Given the description of an element on the screen output the (x, y) to click on. 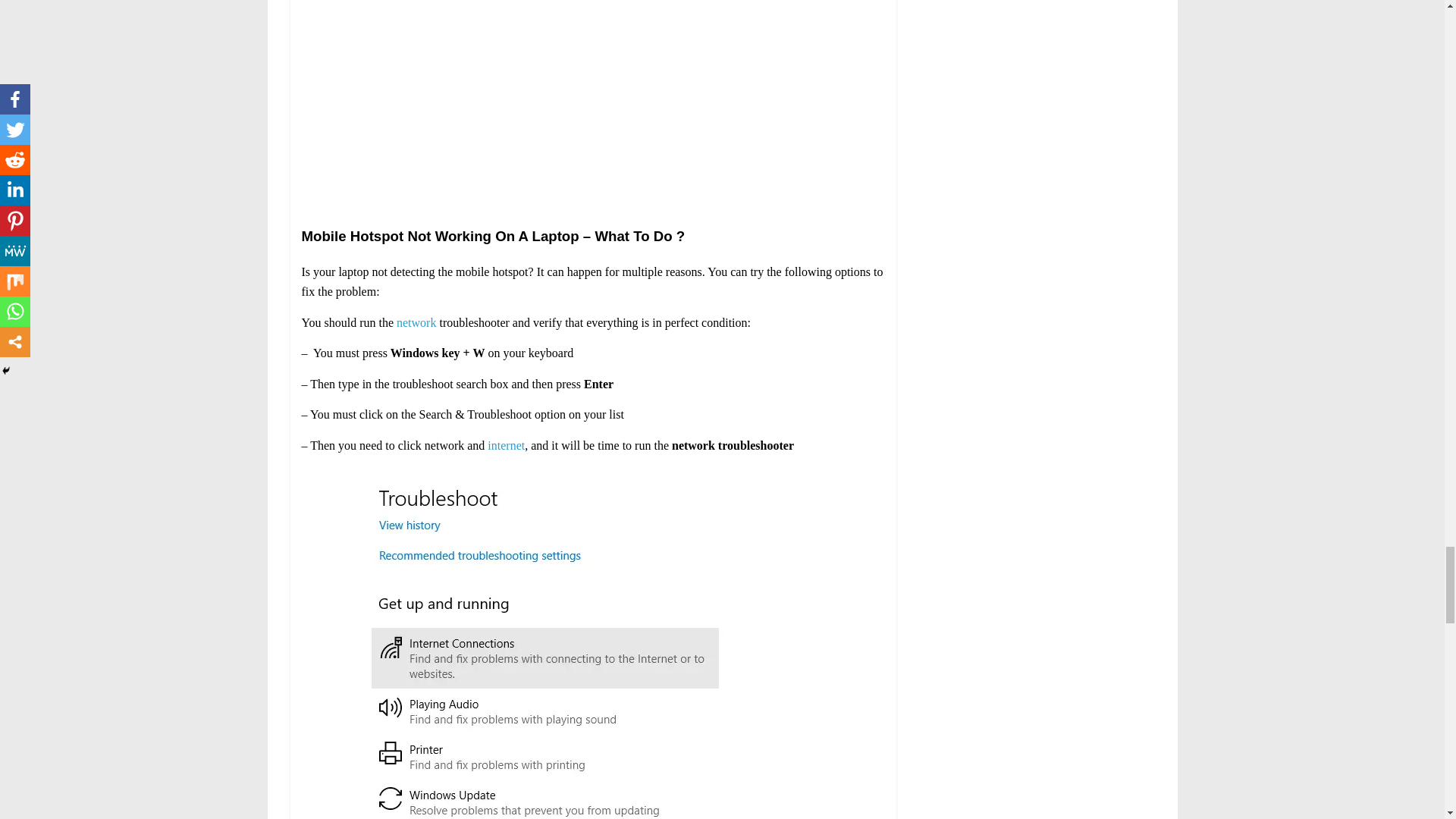
network (415, 322)
Why Is My Laptop Not Connected To The Mobile Hotspot (592, 101)
internet (505, 445)
